Given the description of an element on the screen output the (x, y) to click on. 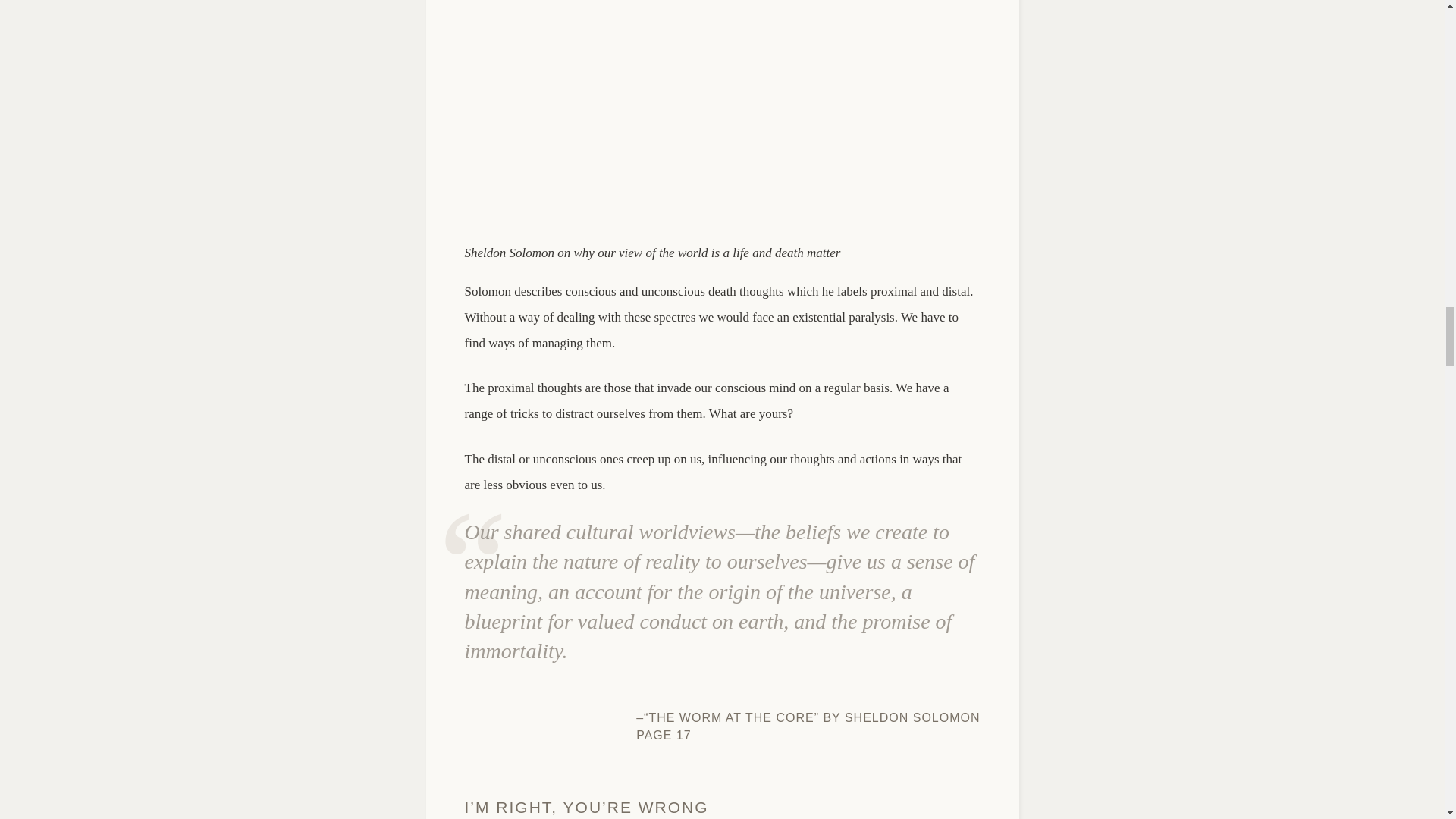
Sheldon Solomon on "The Worm at the Core" (721, 112)
